Given the description of an element on the screen output the (x, y) to click on. 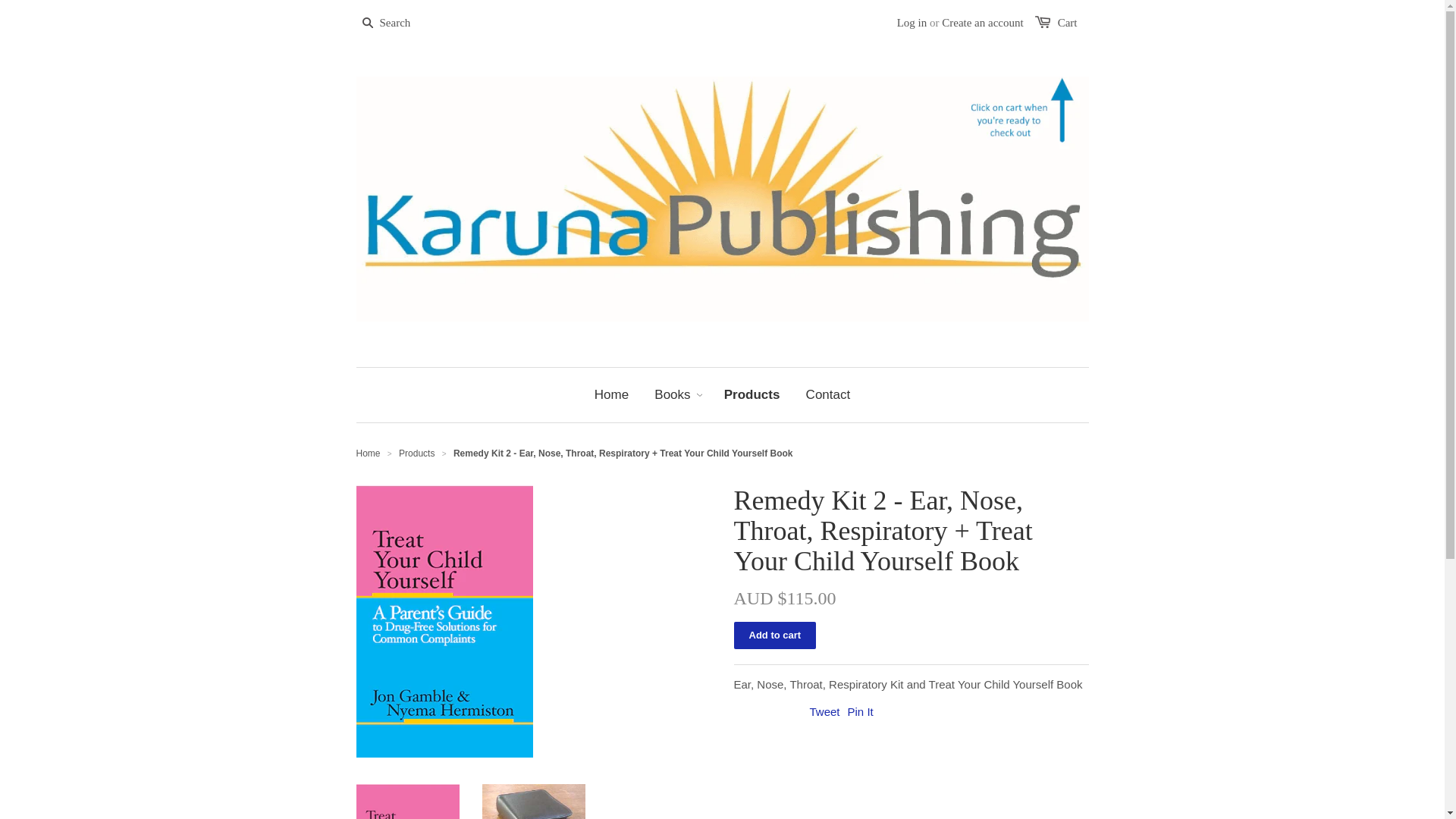
Products Element type: text (416, 453)
Tweet Element type: text (824, 711)
Contact Element type: text (828, 394)
Add to cart Element type: text (775, 635)
Products Element type: text (751, 394)
Pin It Element type: text (860, 711)
Home Element type: text (611, 394)
Create an account Element type: text (981, 22)
Books Element type: text (672, 394)
Cart Element type: text (1067, 22)
Log in Element type: text (912, 22)
Home Element type: text (368, 453)
